Given the description of an element on the screen output the (x, y) to click on. 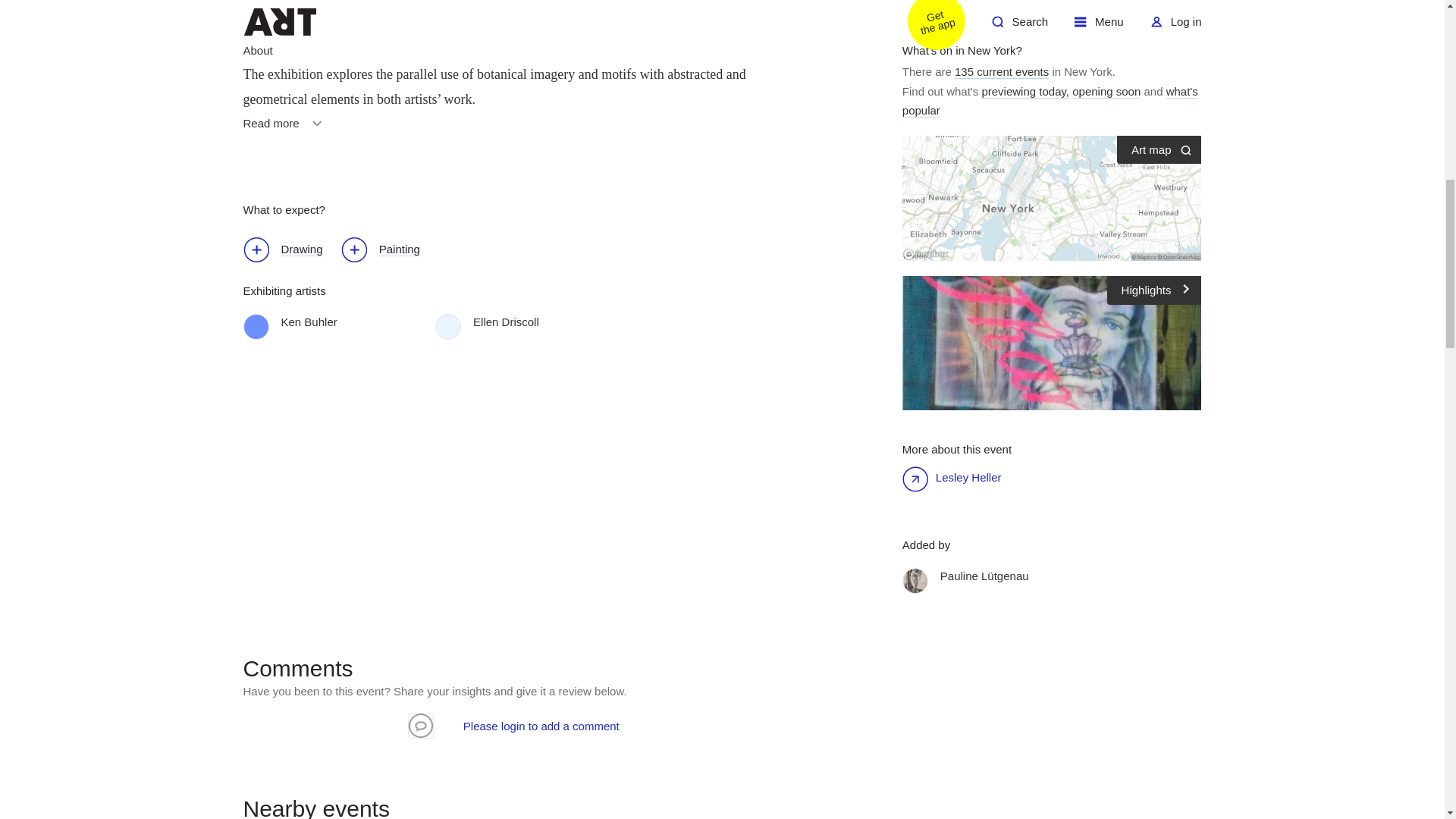
Drawing (290, 250)
Painting (387, 250)
